Given the description of an element on the screen output the (x, y) to click on. 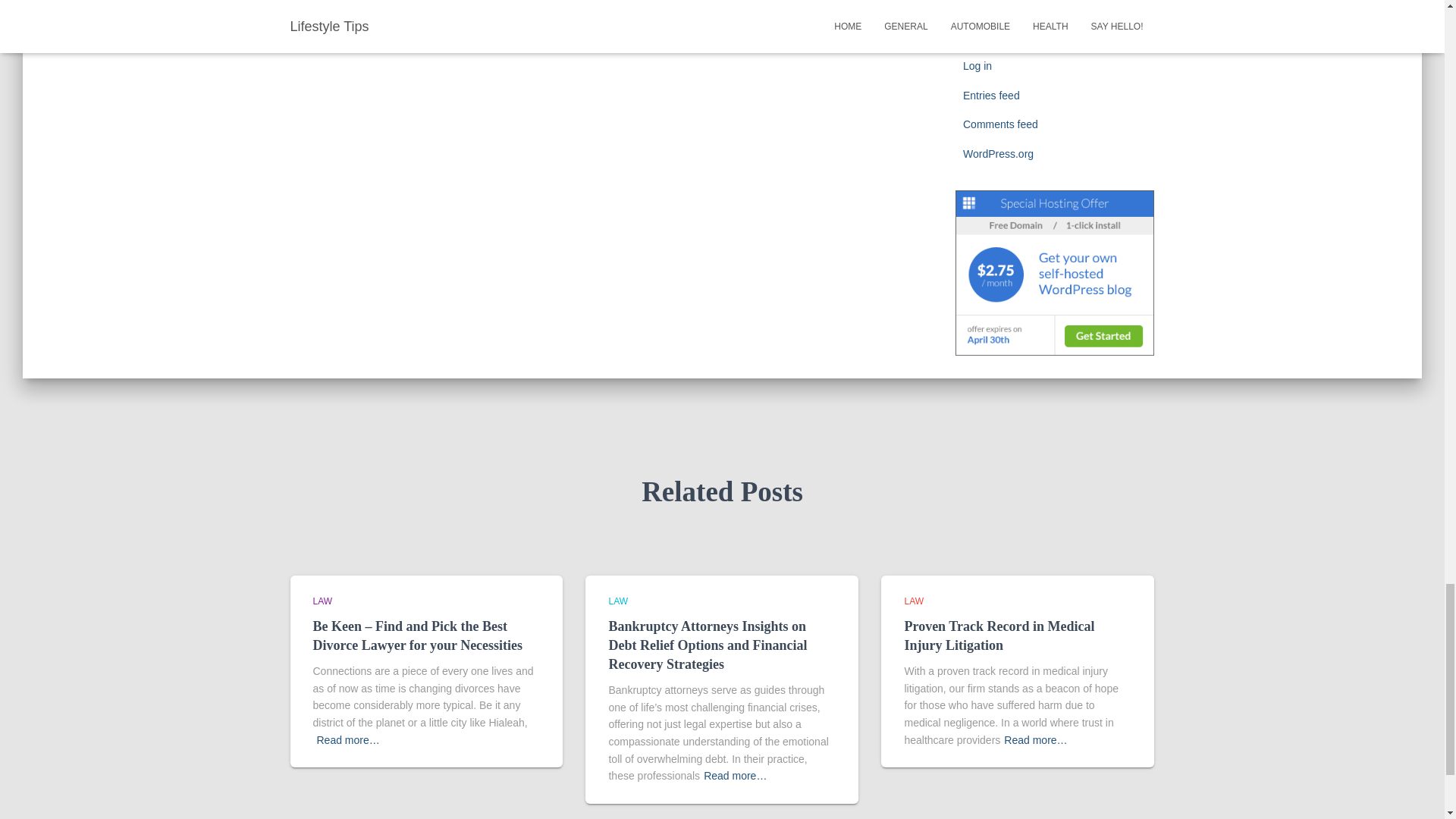
View all posts in Law (617, 601)
View all posts in Law (913, 601)
View all posts in Law (322, 601)
Proven Track Record in Medical Injury Litigation (999, 635)
